Given the description of an element on the screen output the (x, y) to click on. 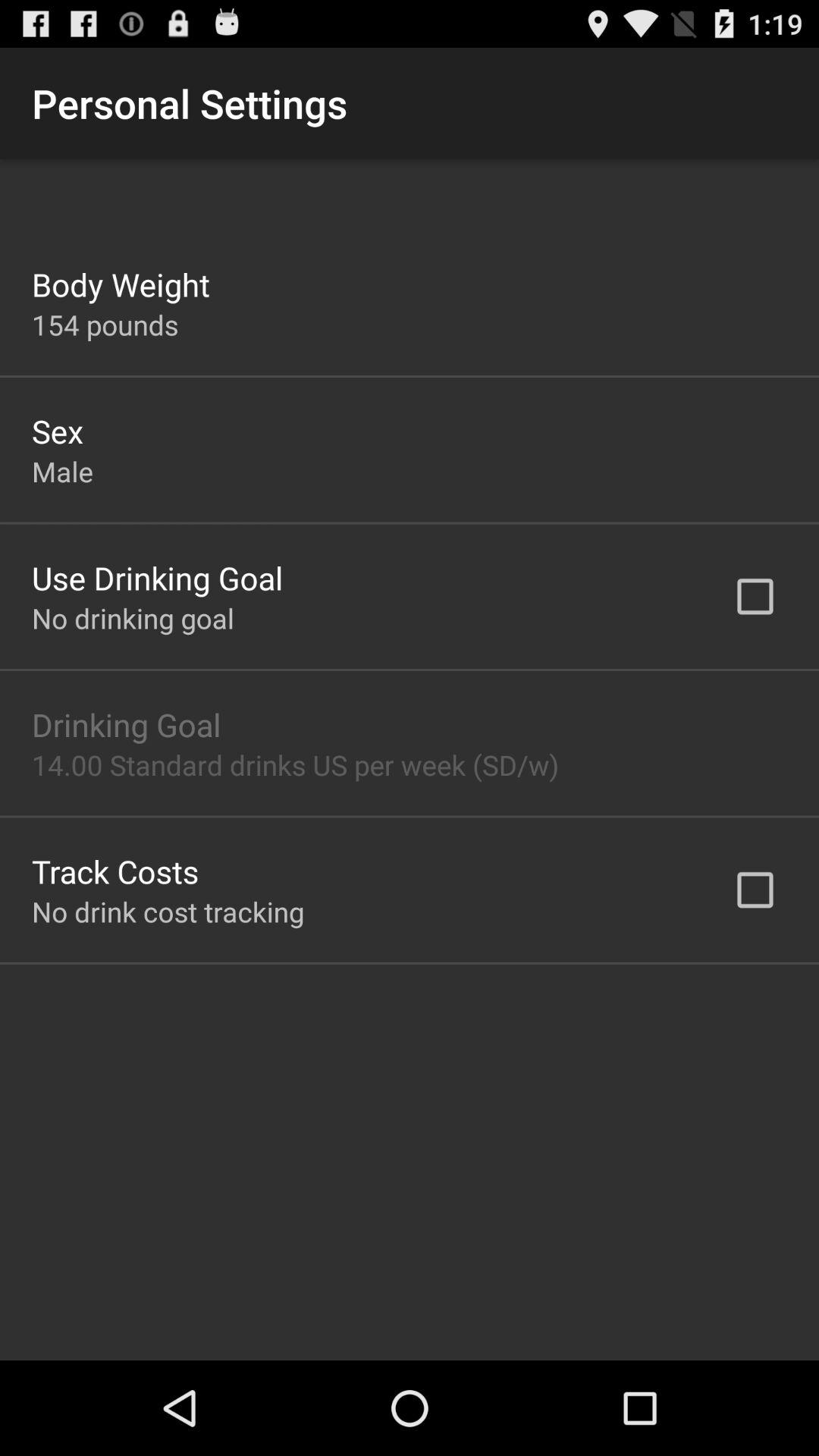
click track costs (115, 870)
